Given the description of an element on the screen output the (x, y) to click on. 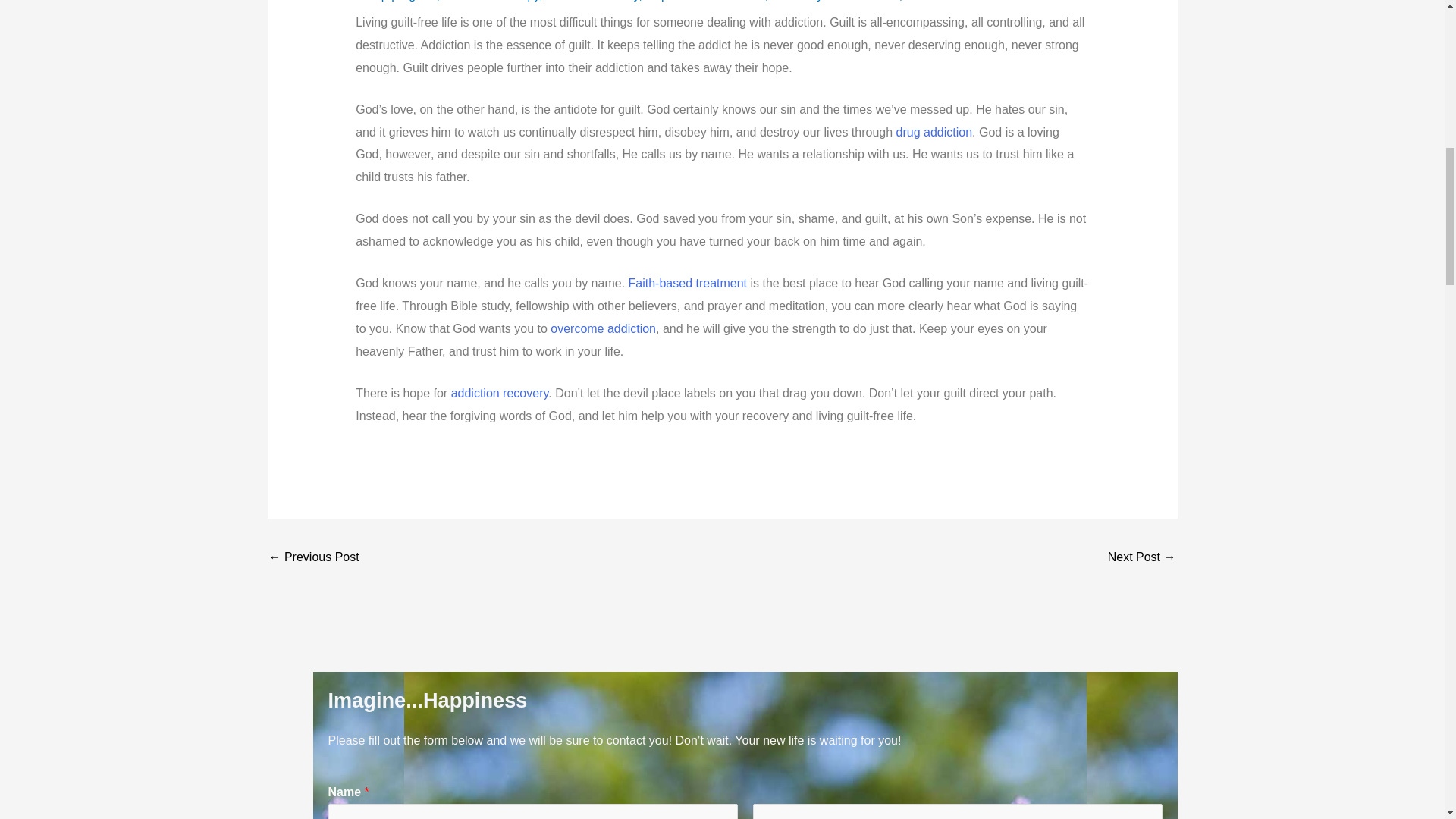
Maintaining Sobriety through Faith (1142, 558)
What You Should Know About Christian Rehab Centers (312, 558)
